Given the description of an element on the screen output the (x, y) to click on. 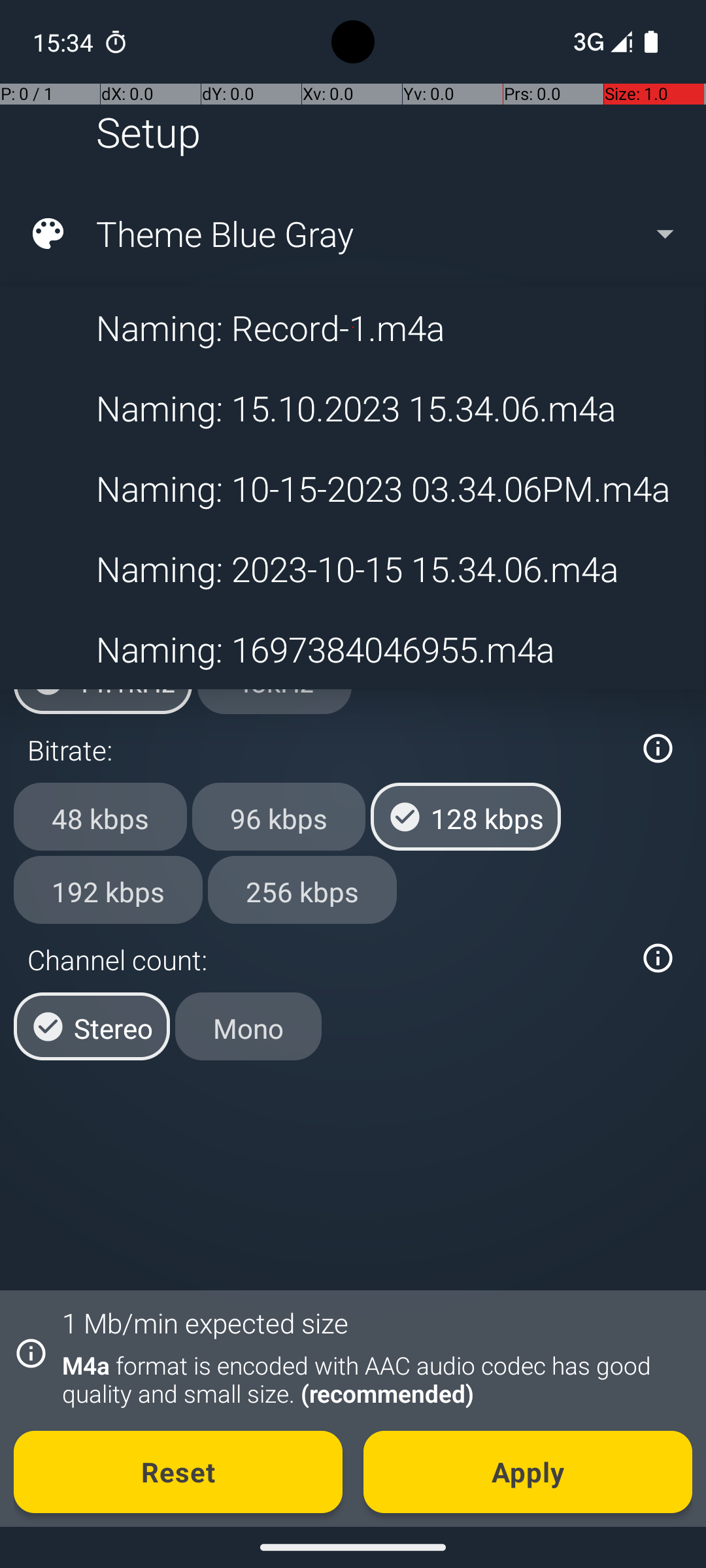
Naming: 15.10.2023 15.34.06.m4a Element type: android.widget.TextView (352, 407)
Naming: 10-15-2023 03.34.06PM.m4a Element type: android.widget.TextView (352, 488)
Naming: 2023-10-15 15.34.06.m4a Element type: android.widget.TextView (352, 568)
Naming: 1697384046955.m4a Element type: android.widget.TextView (352, 648)
